Given the description of an element on the screen output the (x, y) to click on. 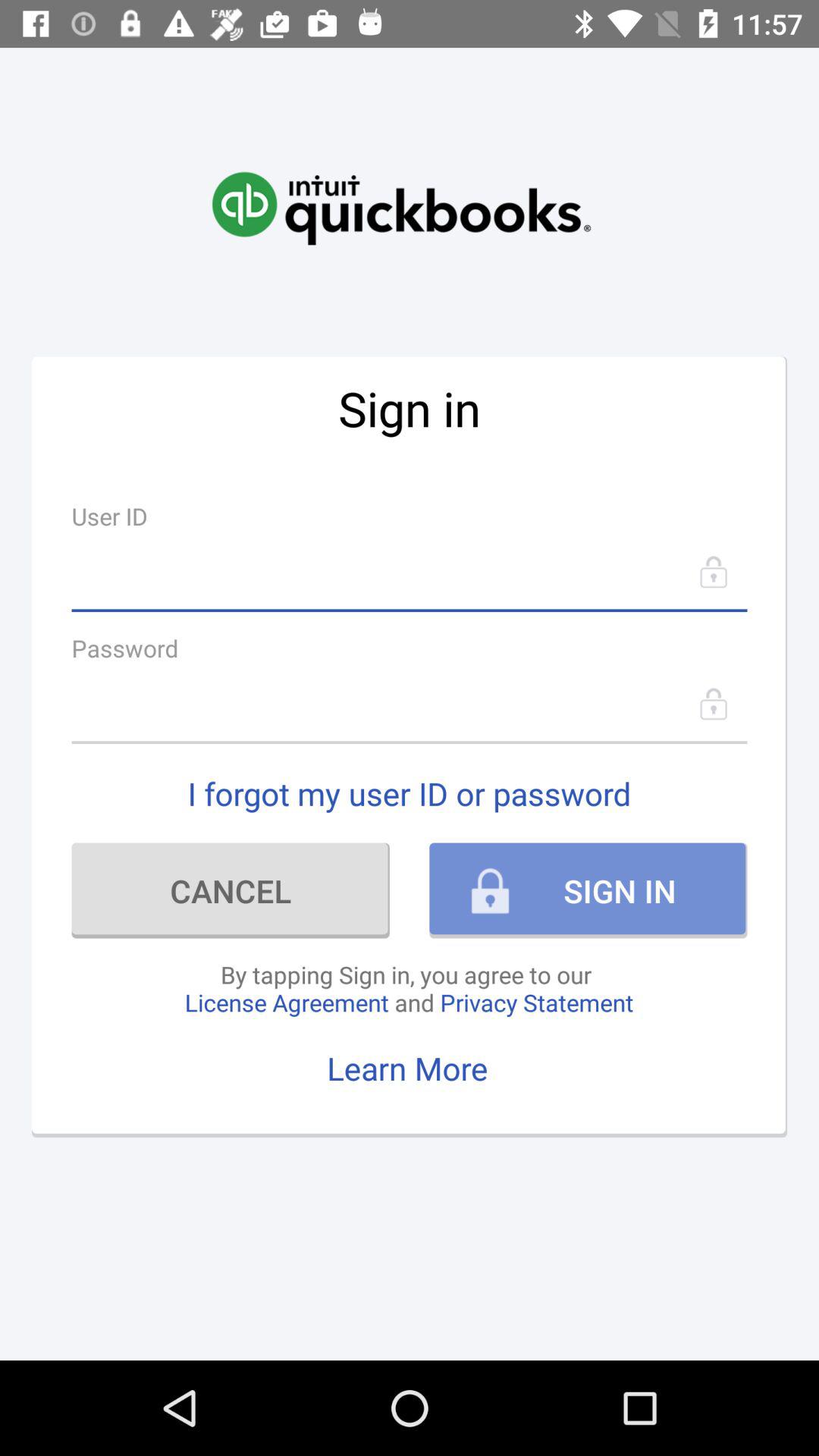
turn on cancel icon (230, 890)
